Given the description of an element on the screen output the (x, y) to click on. 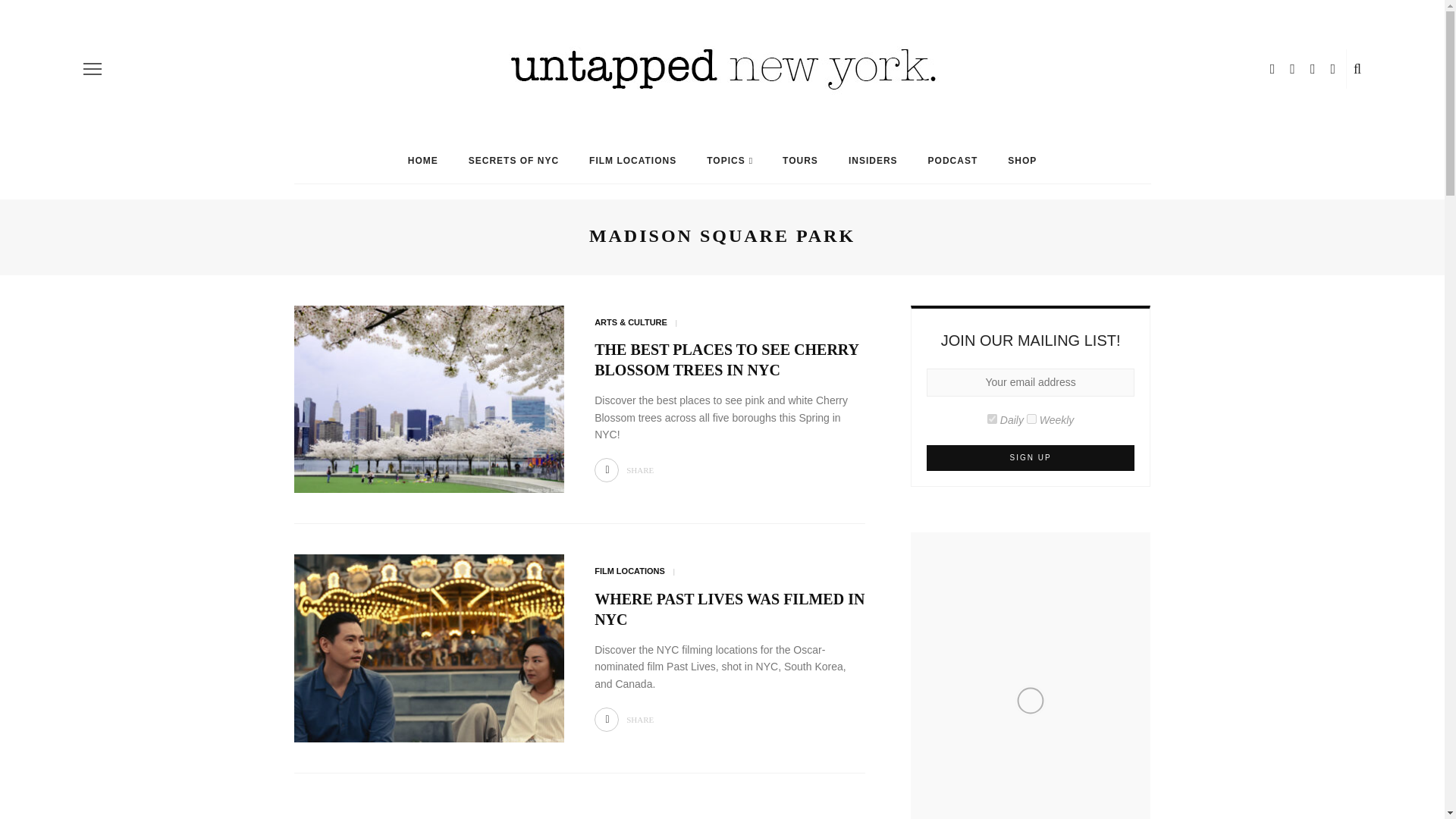
Sign up (1030, 457)
7cff6a70fd (1031, 419)
e99a09560c (992, 419)
off canvas button (91, 68)
The Best Places to See Cherry Blossom Trees in NYC (429, 398)
